Given the description of an element on the screen output the (x, y) to click on. 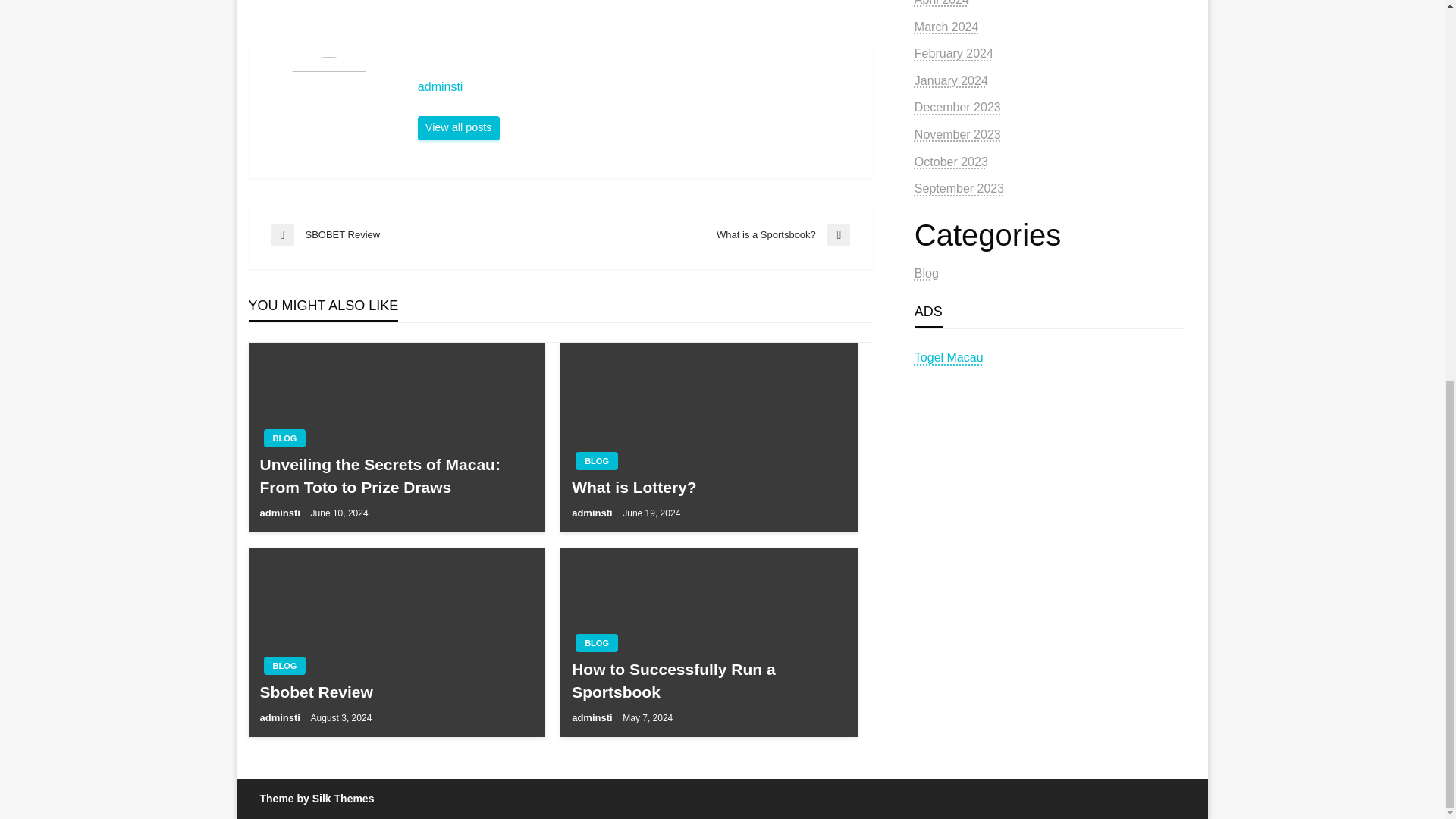
BLOG (284, 665)
adminsti (458, 128)
BLOG (284, 438)
View all posts (458, 128)
adminsti (637, 87)
adminsti (593, 512)
BLOG (596, 642)
How to Successfully Run a Sportsbook (708, 680)
April 2024 (941, 2)
BLOG (596, 461)
